Given the description of an element on the screen output the (x, y) to click on. 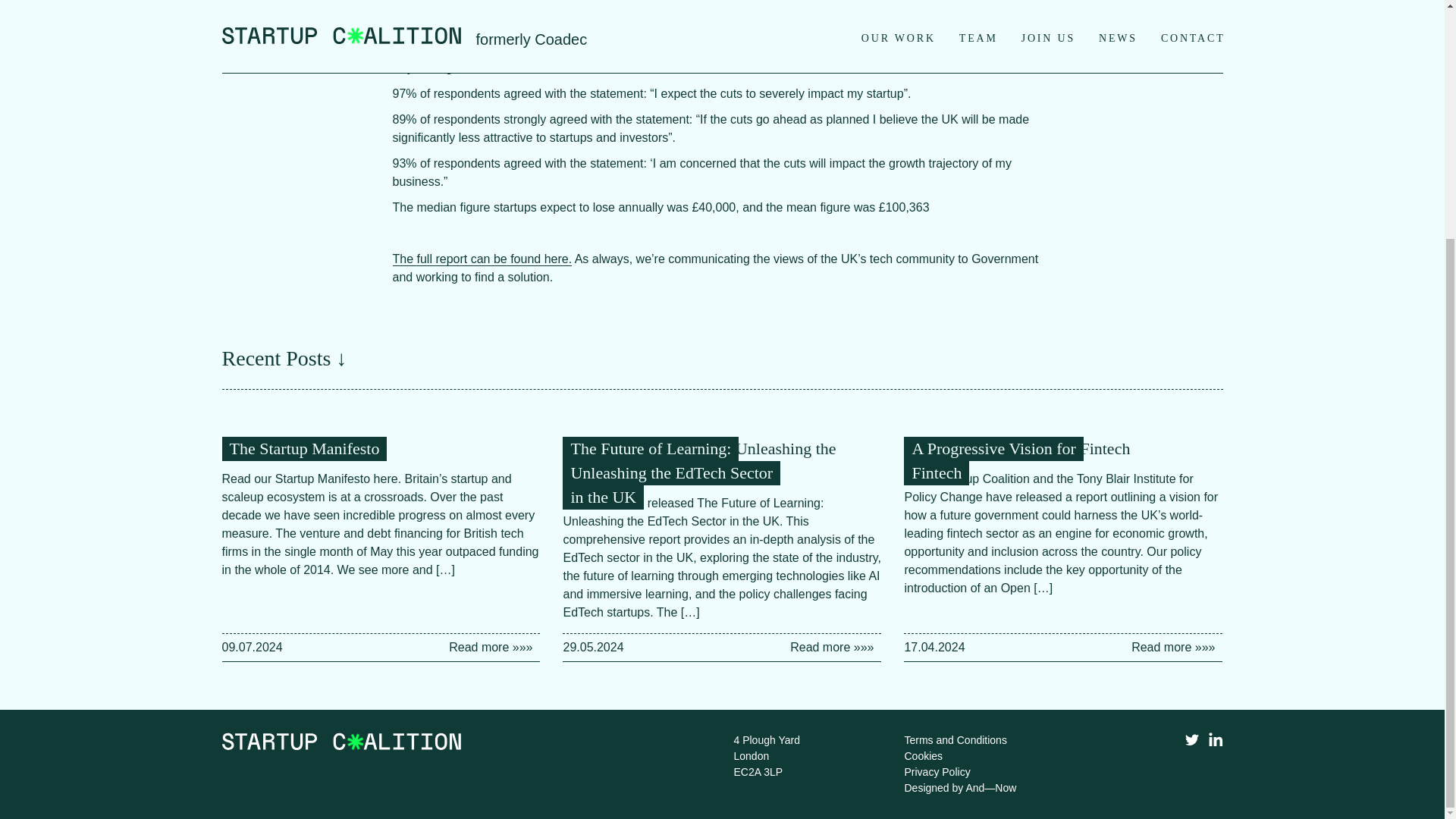
The full report can be found here. (482, 259)
Terms and Conditions (955, 739)
The Startup Manifesto (303, 447)
Cookies (923, 756)
A Progressive Vision for Fintech (1020, 447)
Privacy Policy (936, 771)
